Given the description of an element on the screen output the (x, y) to click on. 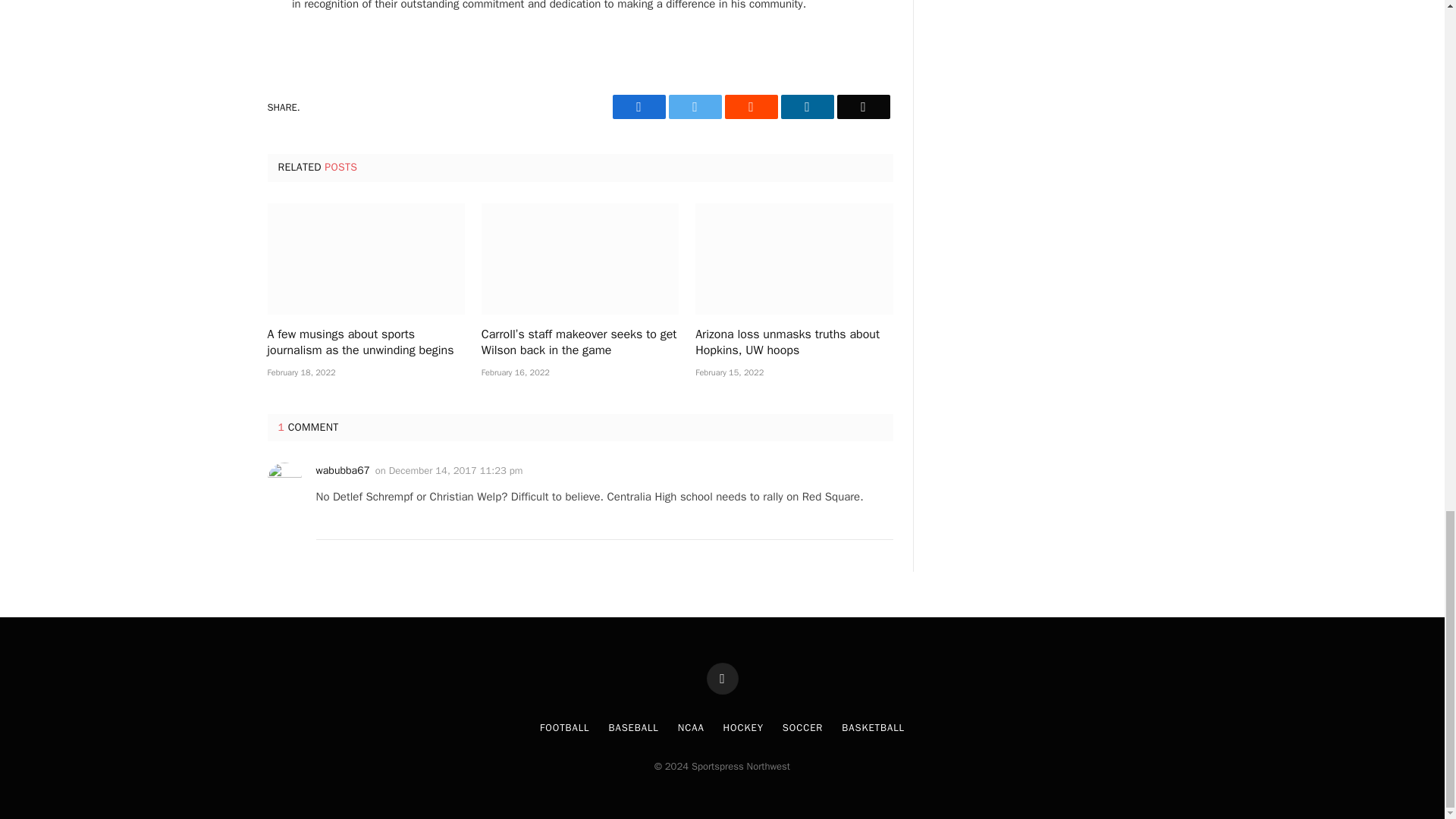
Email (863, 106)
Facebook (638, 106)
LinkedIn (807, 106)
Twitter (695, 106)
Reddit (751, 106)
